Given the description of an element on the screen output the (x, y) to click on. 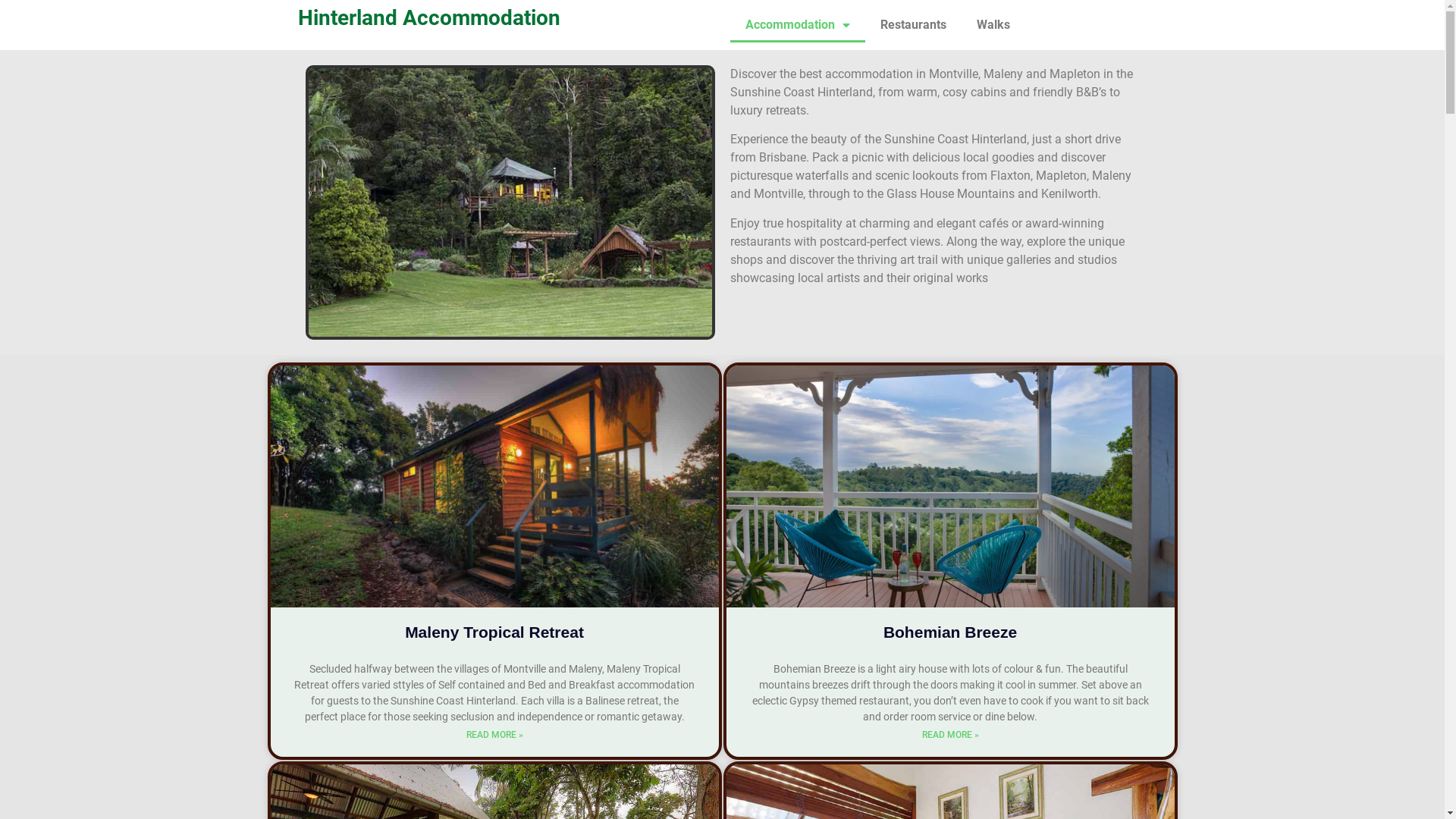
Bohemian Breeze Element type: text (949, 631)
Maleny Tropical Retreat Element type: text (493, 631)
Walks Element type: text (993, 24)
Restaurants Element type: text (912, 24)
Accommodation Element type: text (796, 24)
